Given the description of an element on the screen output the (x, y) to click on. 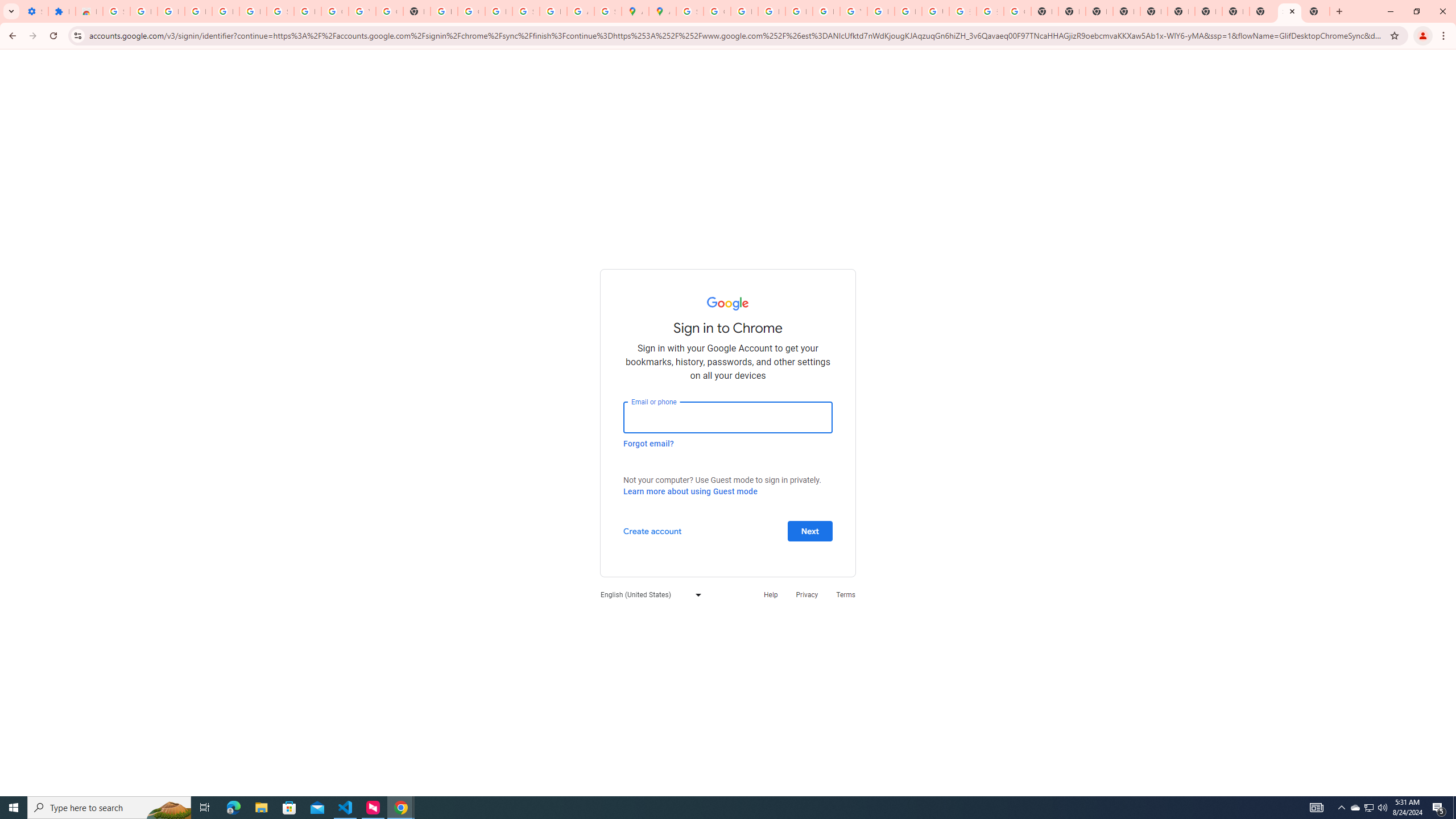
Forgot email? (648, 443)
Google Images (1017, 11)
Privacy Help Center - Policies Help (771, 11)
Create account (651, 530)
Email or phone (727, 417)
